Given the description of an element on the screen output the (x, y) to click on. 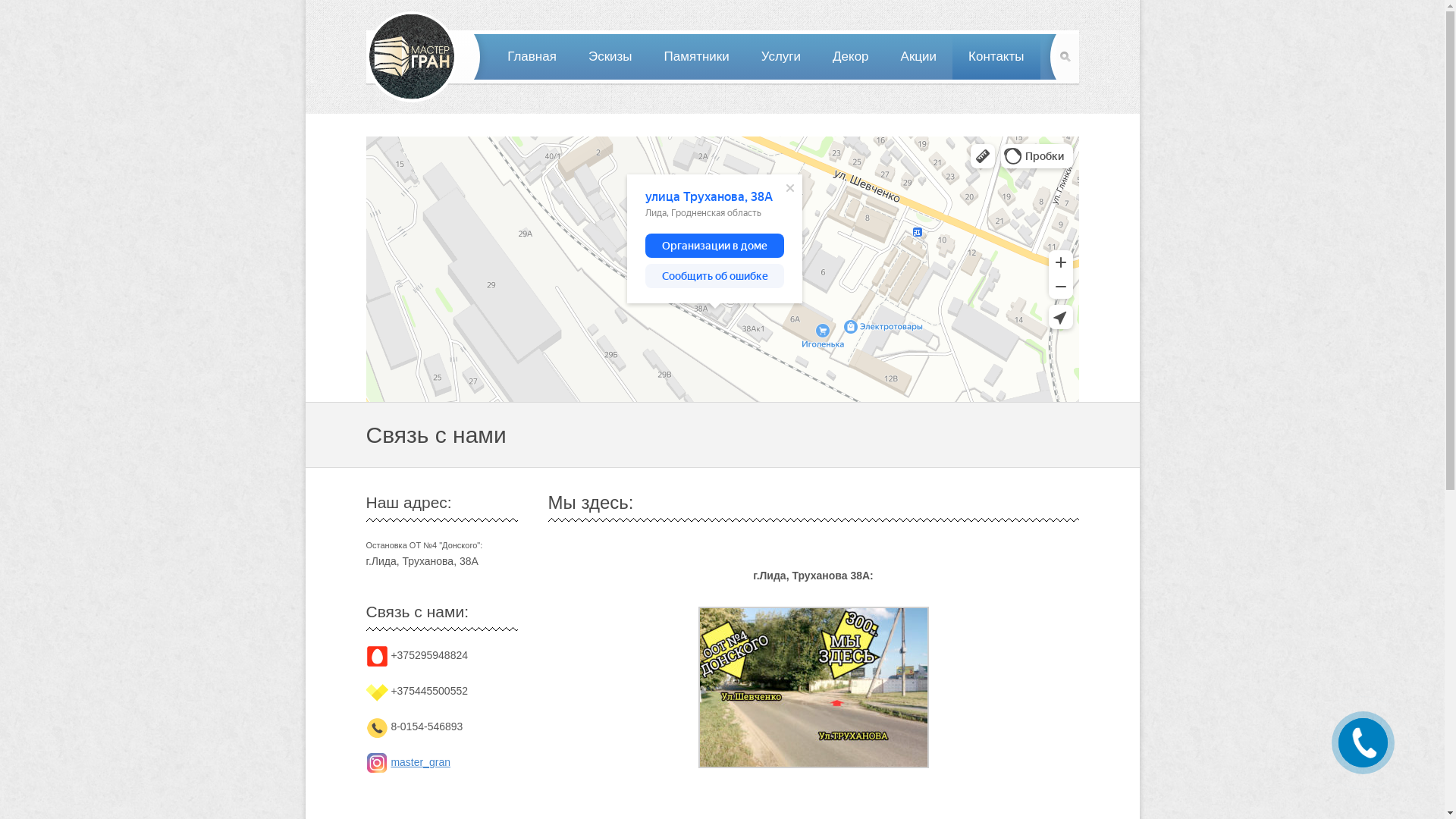
Search Element type: text (1066, 56)
master_gran Element type: text (420, 762)
